Given the description of an element on the screen output the (x, y) to click on. 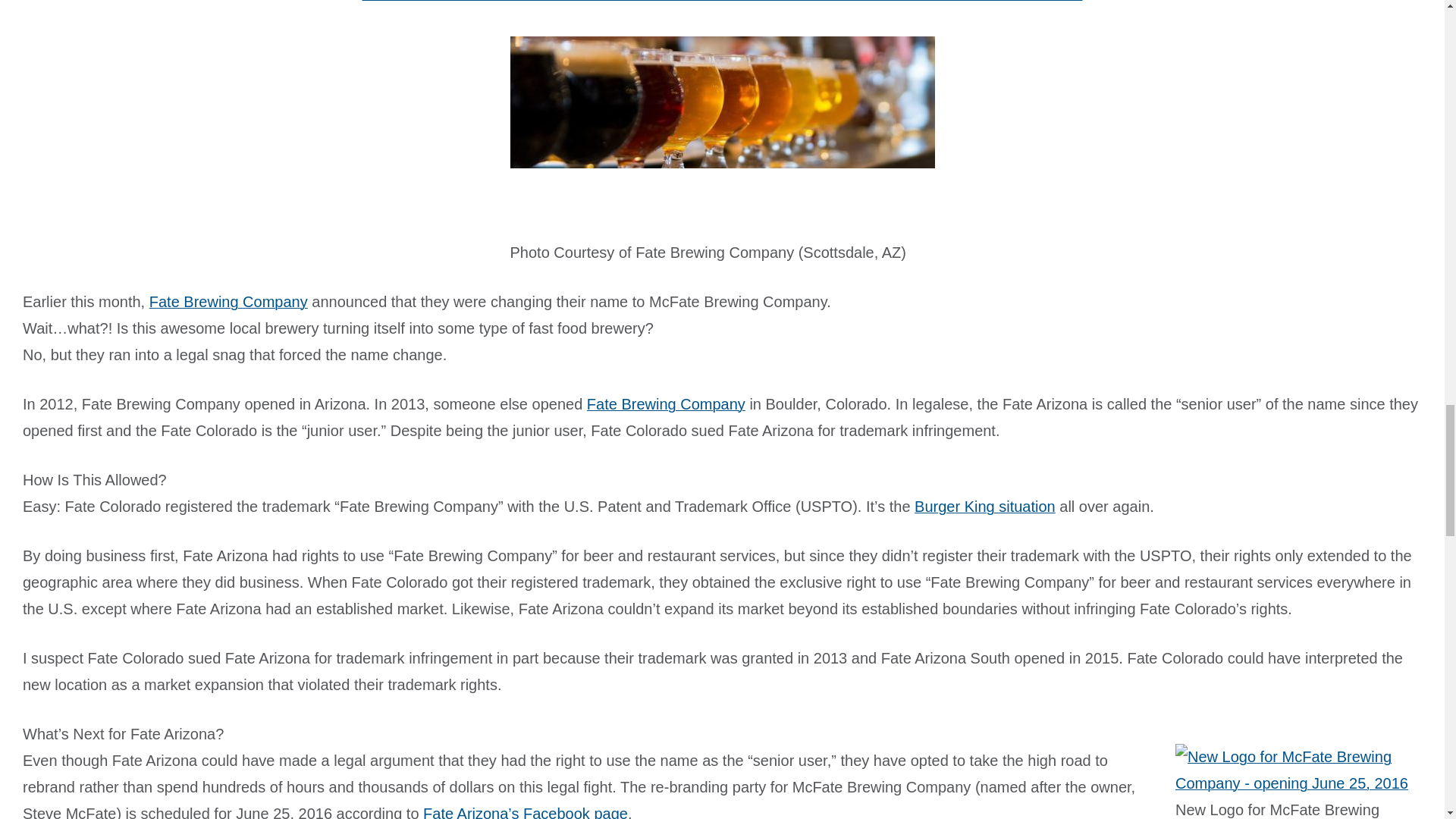
WHAT WENT WRONG WITH FATE BREWING COMPANY (722, 6)
Fate Brewing Company (228, 301)
Burger King situation (984, 506)
Fate Brewing Company (665, 403)
